Given the description of an element on the screen output the (x, y) to click on. 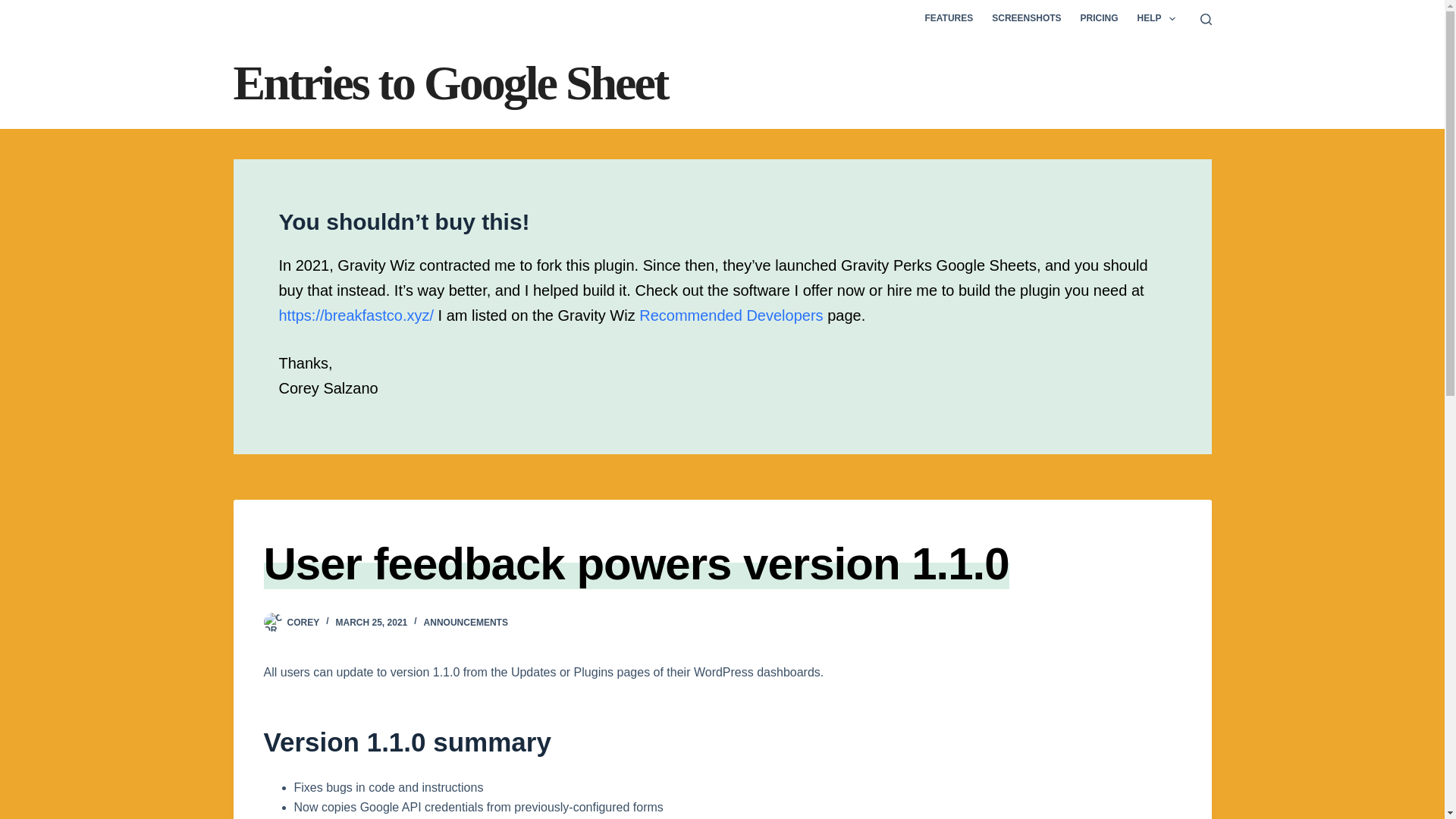
Entries to Google Sheet (450, 82)
FEATURES (948, 18)
PRICING (1098, 18)
Posts by corey (302, 622)
HELP (1155, 18)
User feedback powers version 1.1.0 (636, 563)
Recommended Developers (730, 315)
Skip to content (15, 7)
SCREENSHOTS (1026, 18)
